Given the description of an element on the screen output the (x, y) to click on. 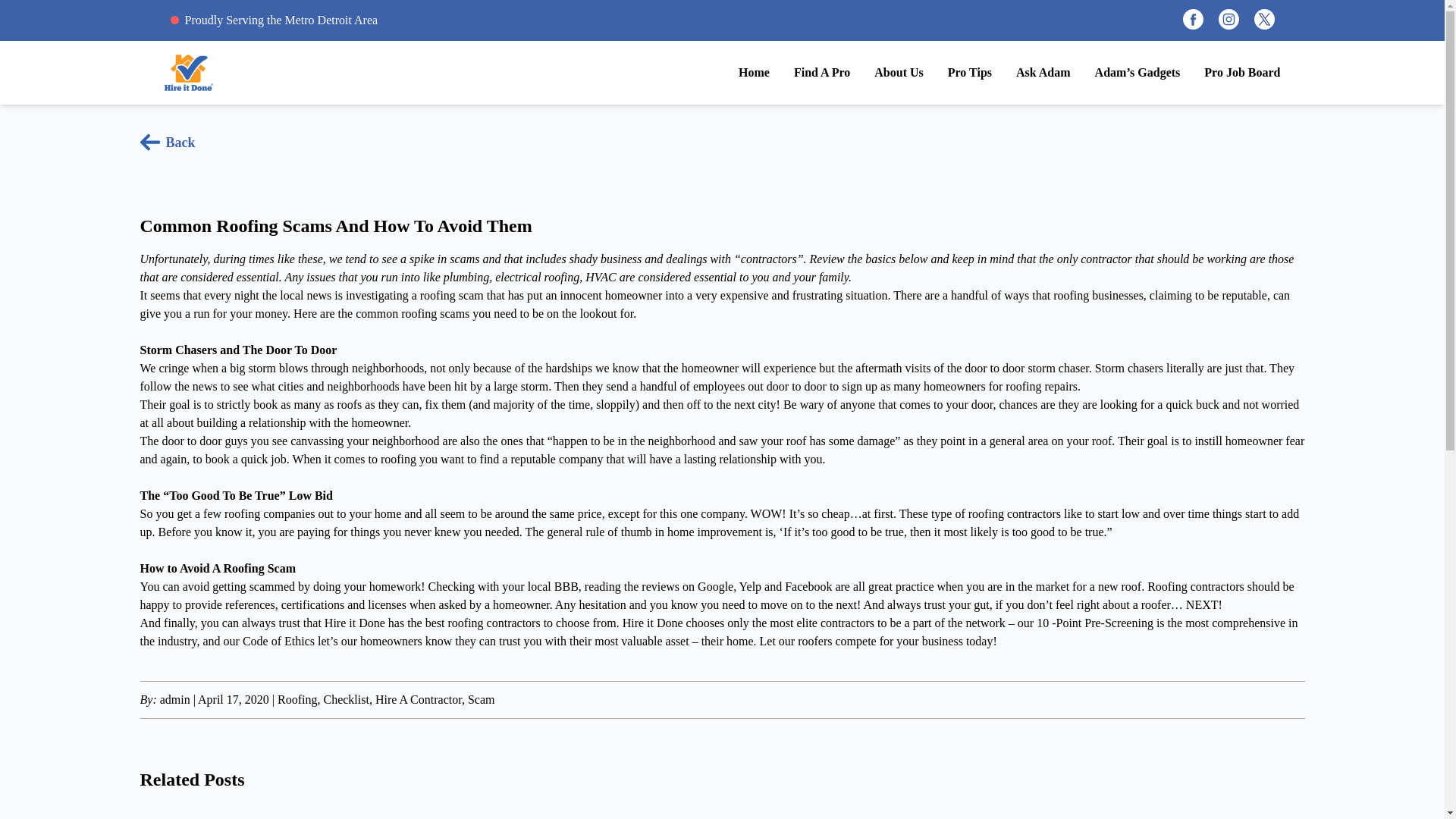
About Us (899, 72)
admin (175, 698)
Find A Pro (821, 72)
Code of Ethics (278, 640)
Ask Adam (1043, 72)
Pro Job Board (1241, 72)
10 -Point Pre-Screening (1094, 622)
Back (167, 142)
Pro Tips (969, 72)
Home (754, 72)
